Given the description of an element on the screen output the (x, y) to click on. 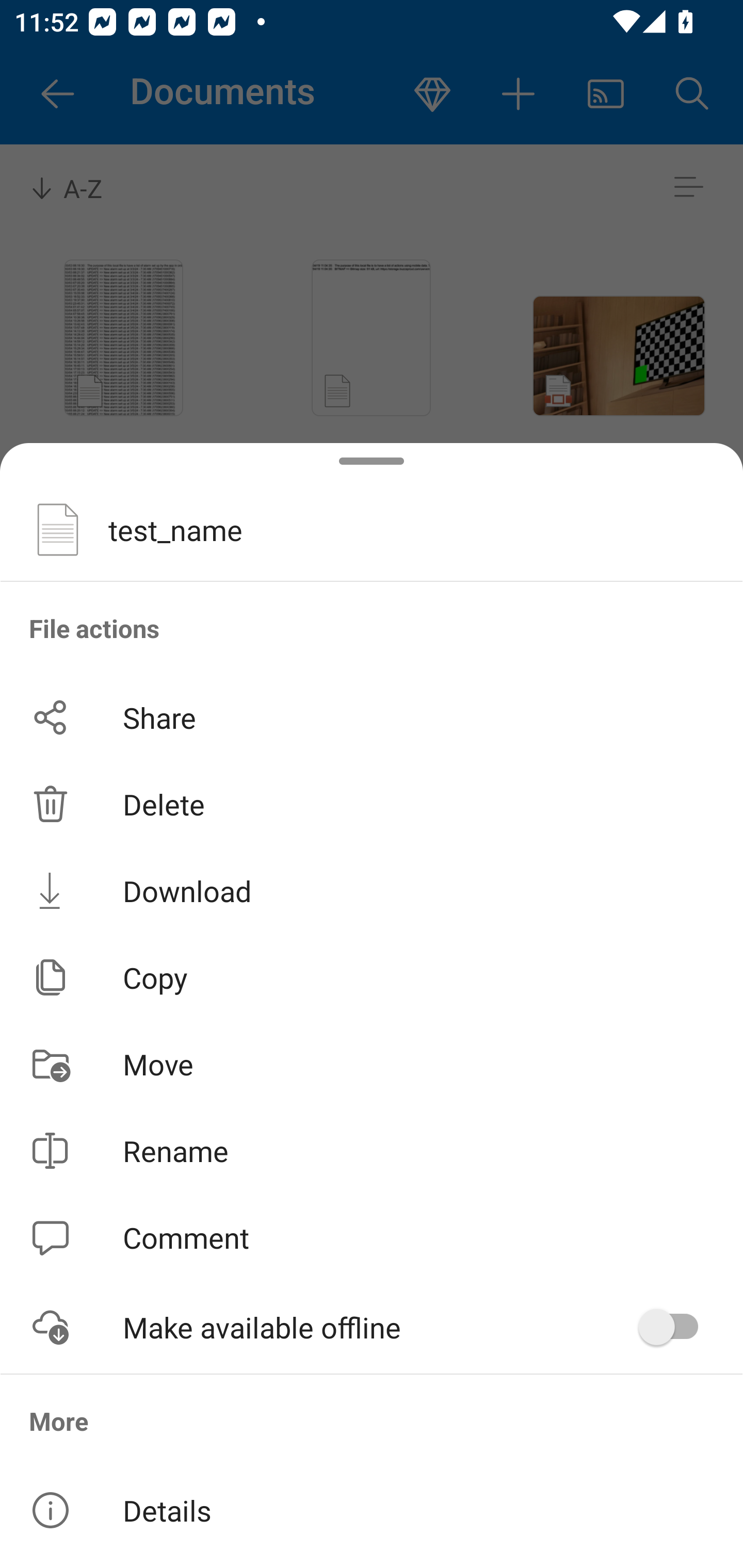
Share button Share (371, 717)
Delete button Delete (371, 803)
Download button Download (371, 890)
Copy button Copy (371, 977)
Move button Move (371, 1063)
Rename button Rename (371, 1150)
Comment button Comment (371, 1237)
Make offline operation (674, 1327)
Details button Details (371, 1510)
